Given the description of an element on the screen output the (x, y) to click on. 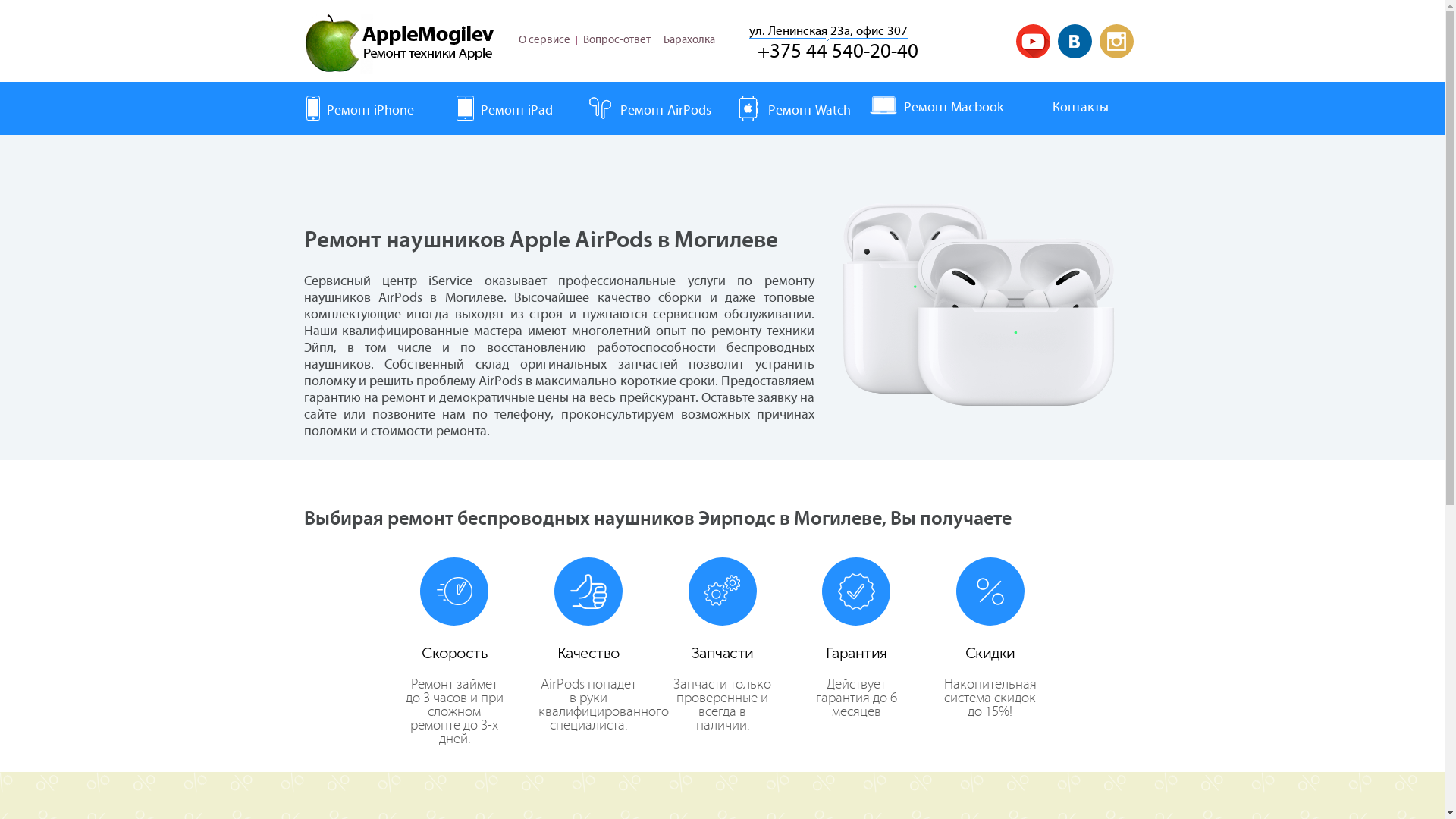
+375 44 540-20-40 Element type: text (836, 51)
Apple Mogilev Element type: text (397, 43)
